Given the description of an element on the screen output the (x, y) to click on. 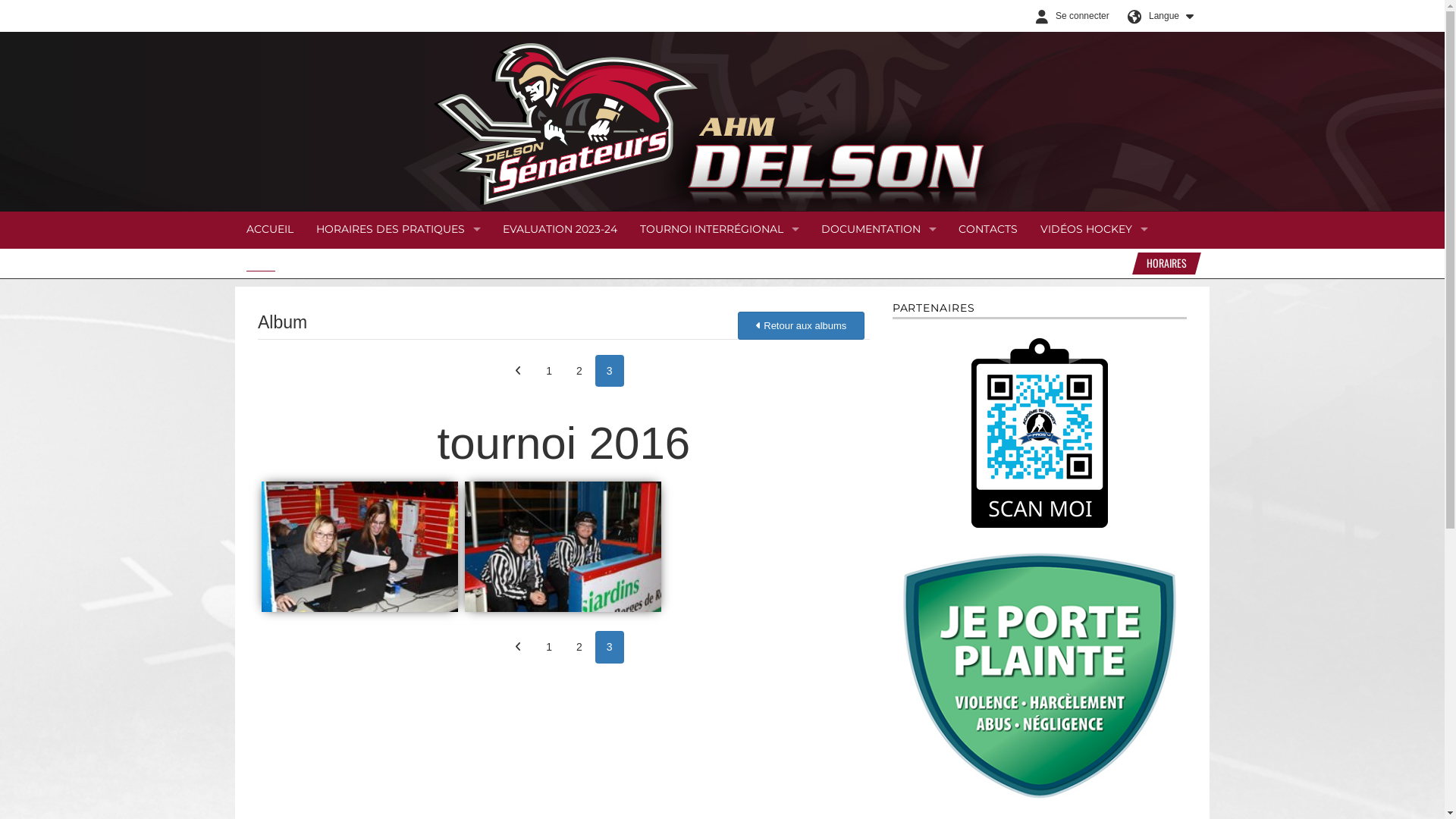
PLUS Element type: text (268, 262)
3 Element type: text (609, 646)
1 Element type: text (548, 370)
ACCUEIL Element type: text (269, 229)
Langue Element type: text (1155, 15)
1 Element type: text (548, 646)
Retour aux albums Element type: text (801, 325)
CONTACTS Element type: text (988, 229)
Se connecter Element type: text (1068, 15)
DOCUMENTATION Element type: text (878, 229)
3 Element type: text (609, 370)
HORAIRES DES PRATIQUES Element type: text (397, 229)
2 Element type: text (578, 646)
HORAIRES Element type: text (1163, 263)
2 Element type: text (578, 370)
EVALUATION 2023-24 Element type: text (559, 229)
